Given the description of an element on the screen output the (x, y) to click on. 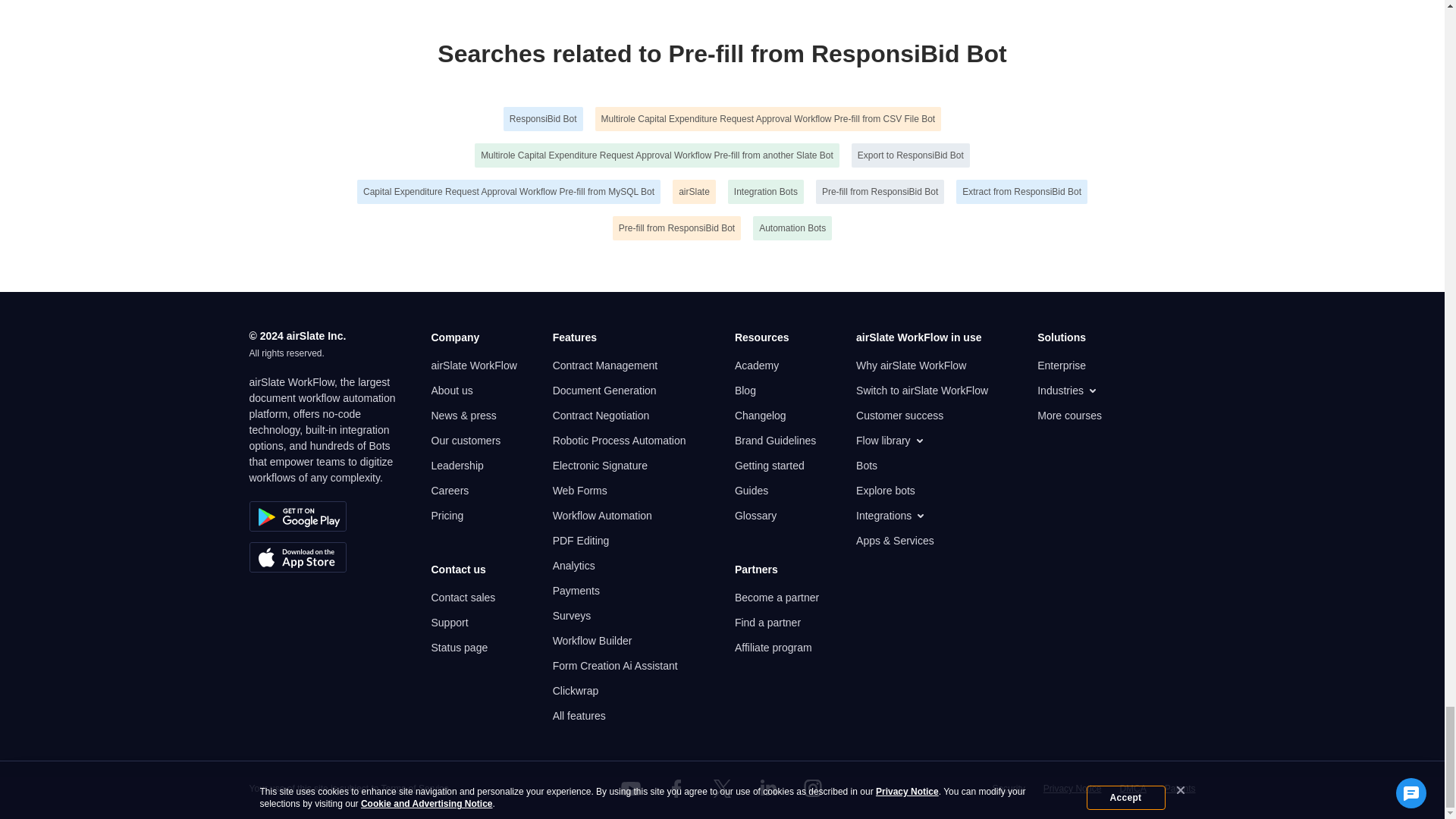
LinkedIn (767, 788)
YouTube (630, 788)
Facebook (676, 788)
Twitter (721, 788)
Instagram (812, 788)
